Given the description of an element on the screen output the (x, y) to click on. 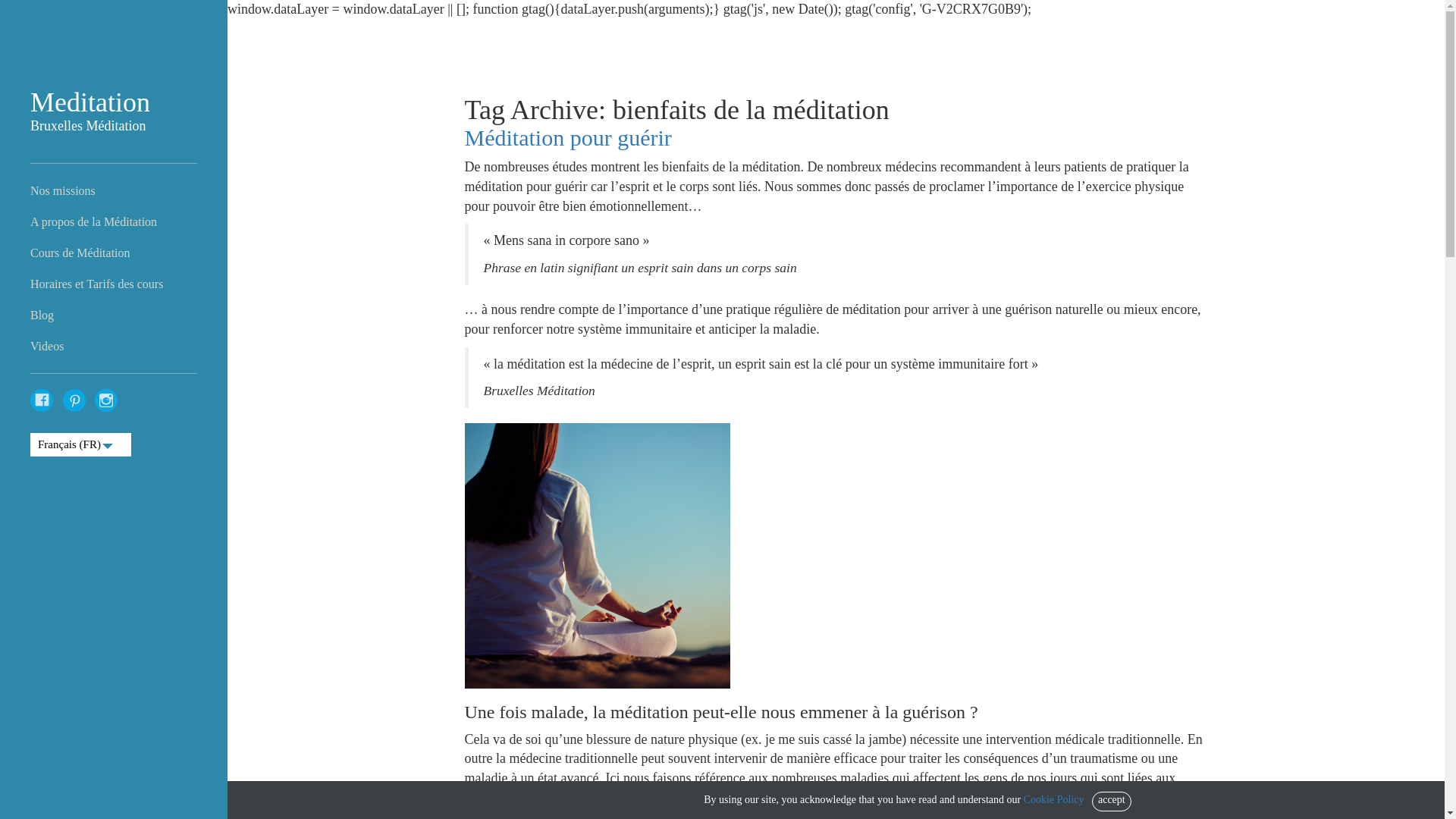
Nos missions Element type: text (55, 190)
instagram Element type: hover (105, 400)
Videos Element type: text (39, 345)
pinterest Element type: hover (73, 400)
Horaires et Tarifs des cours Element type: text (89, 283)
facebook Element type: hover (41, 400)
Cookie Policy Element type: text (1053, 799)
Blog Element type: text (34, 314)
